Given the description of an element on the screen output the (x, y) to click on. 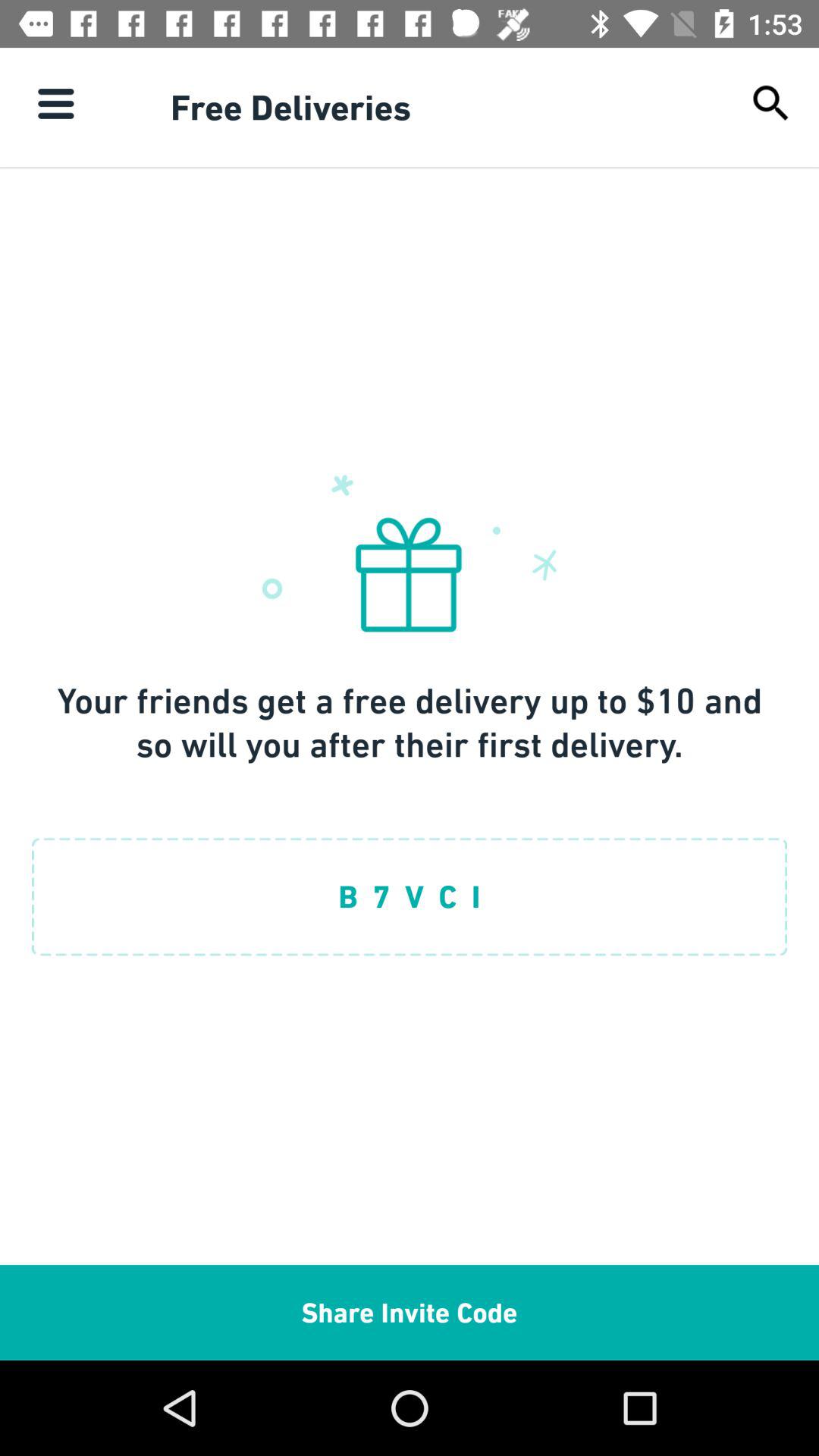
launch the icon at the top right corner (771, 103)
